Given the description of an element on the screen output the (x, y) to click on. 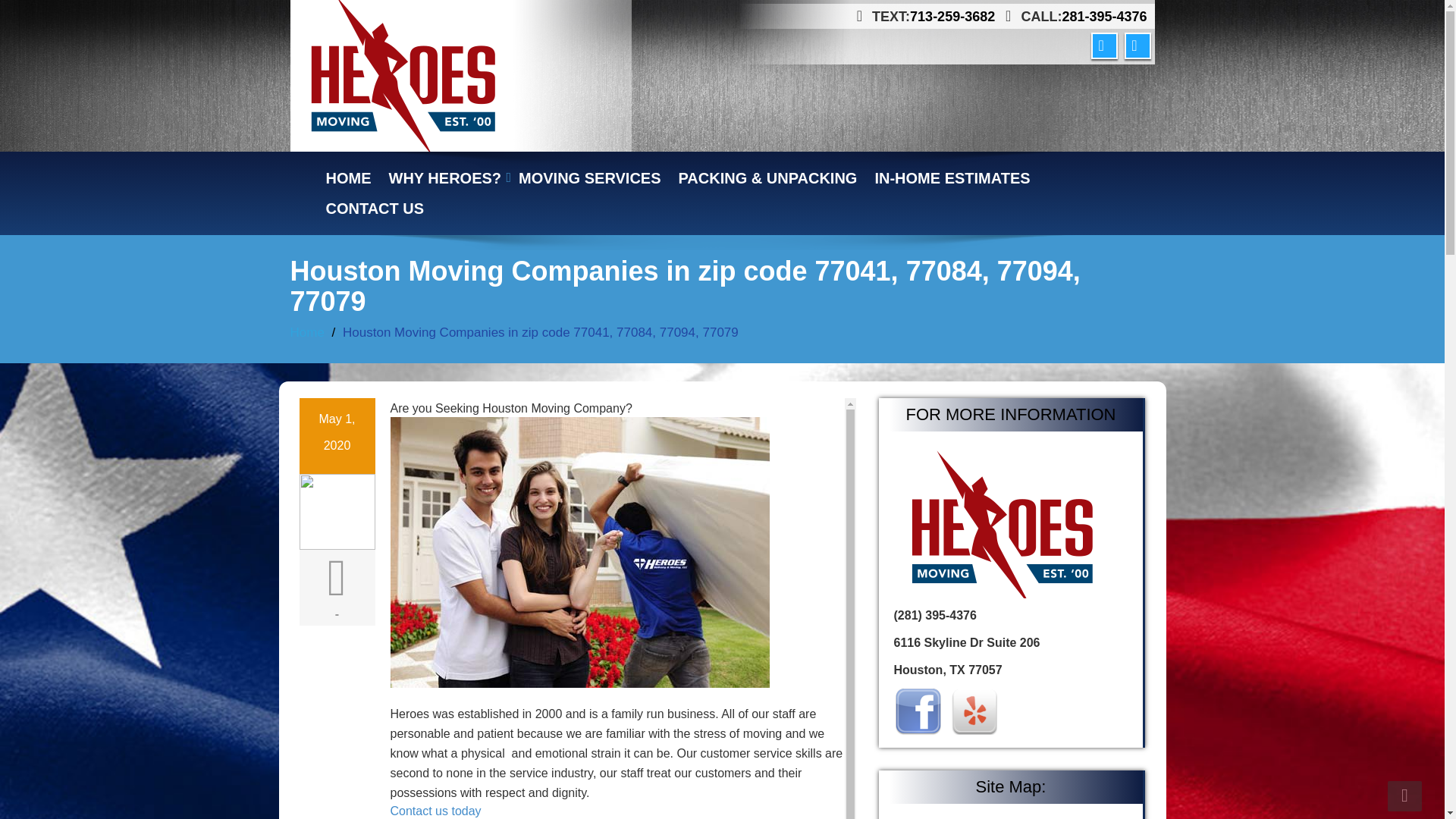
WHY HEROES? (446, 177)
281-395-4376 (1104, 16)
Home (306, 332)
Houston Moving Company (446, 177)
IN-HOME ESTIMATES (952, 177)
CONTACT US (375, 208)
Home (348, 177)
MOVING SERVICES (589, 177)
HOME (348, 177)
713-259-3682 (952, 16)
Contact us today (435, 810)
